Given the description of an element on the screen output the (x, y) to click on. 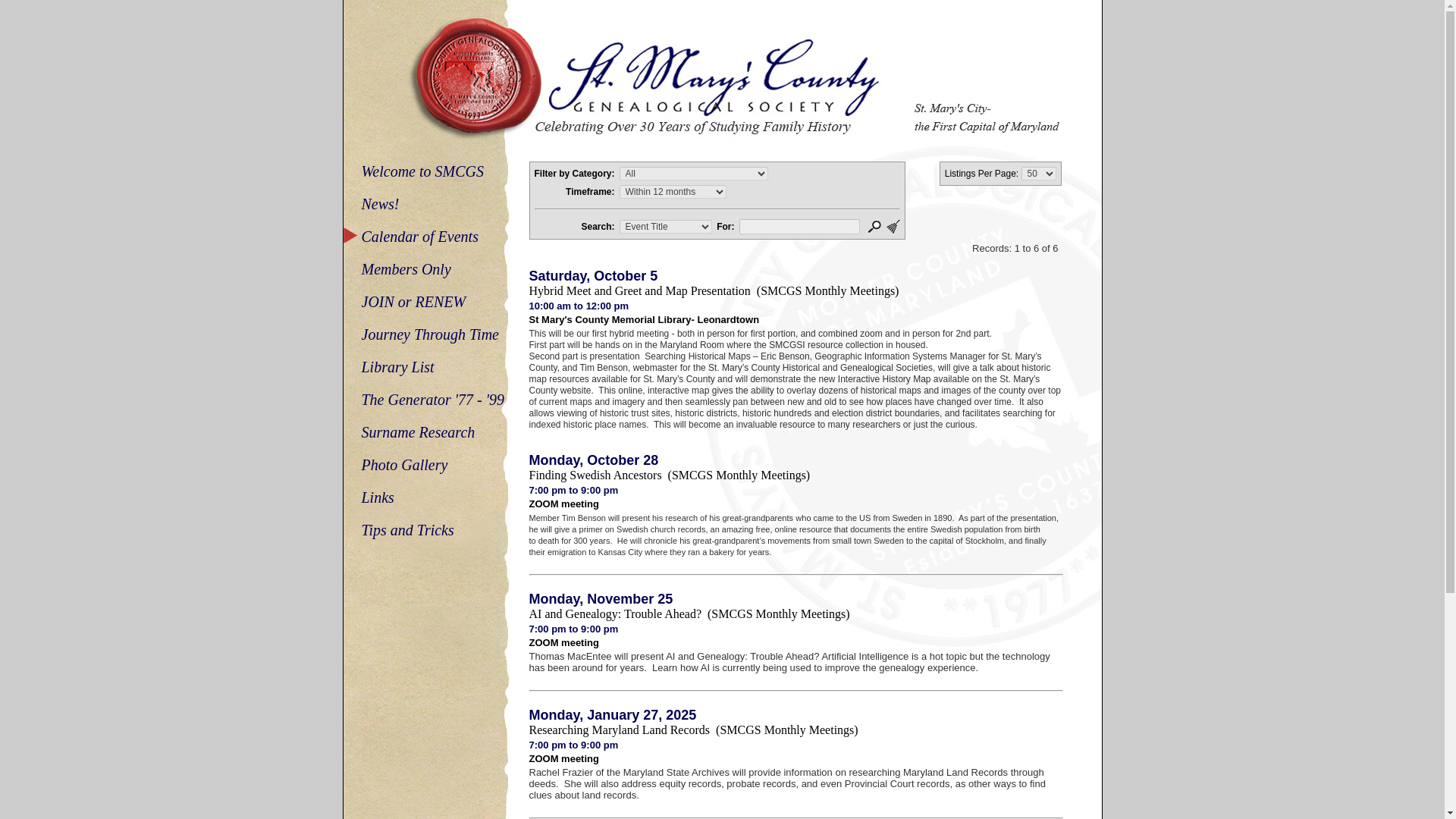
Calendar of Events (419, 236)
Search (873, 226)
Journey Through Time (429, 334)
Surname Research (417, 432)
Members Only (405, 269)
The Generator '77 - '99 (432, 399)
St. Marys County Genealogical Society (721, 71)
Photo Gallery (403, 464)
Library List (397, 366)
Clear Search (892, 226)
